Given the description of an element on the screen output the (x, y) to click on. 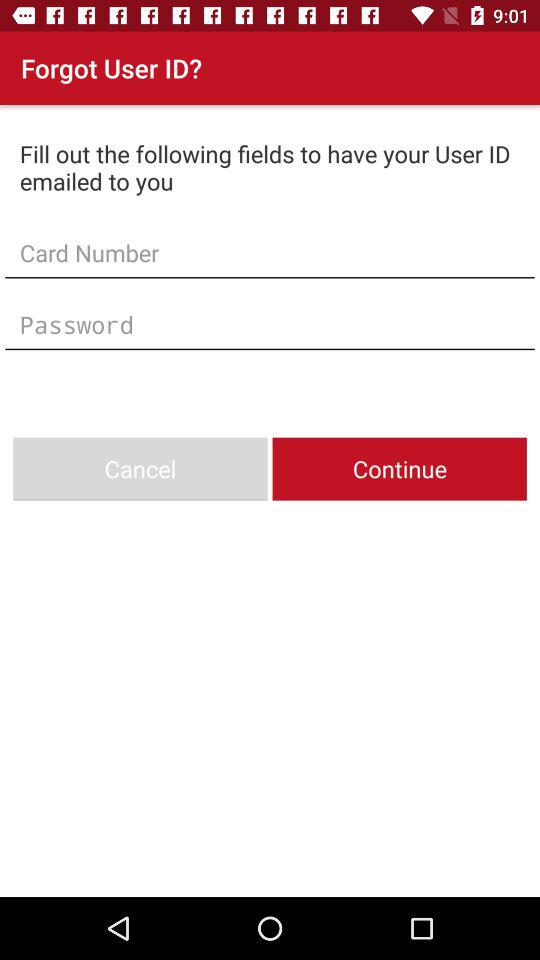
launch item at the center (270, 324)
